Given the description of an element on the screen output the (x, y) to click on. 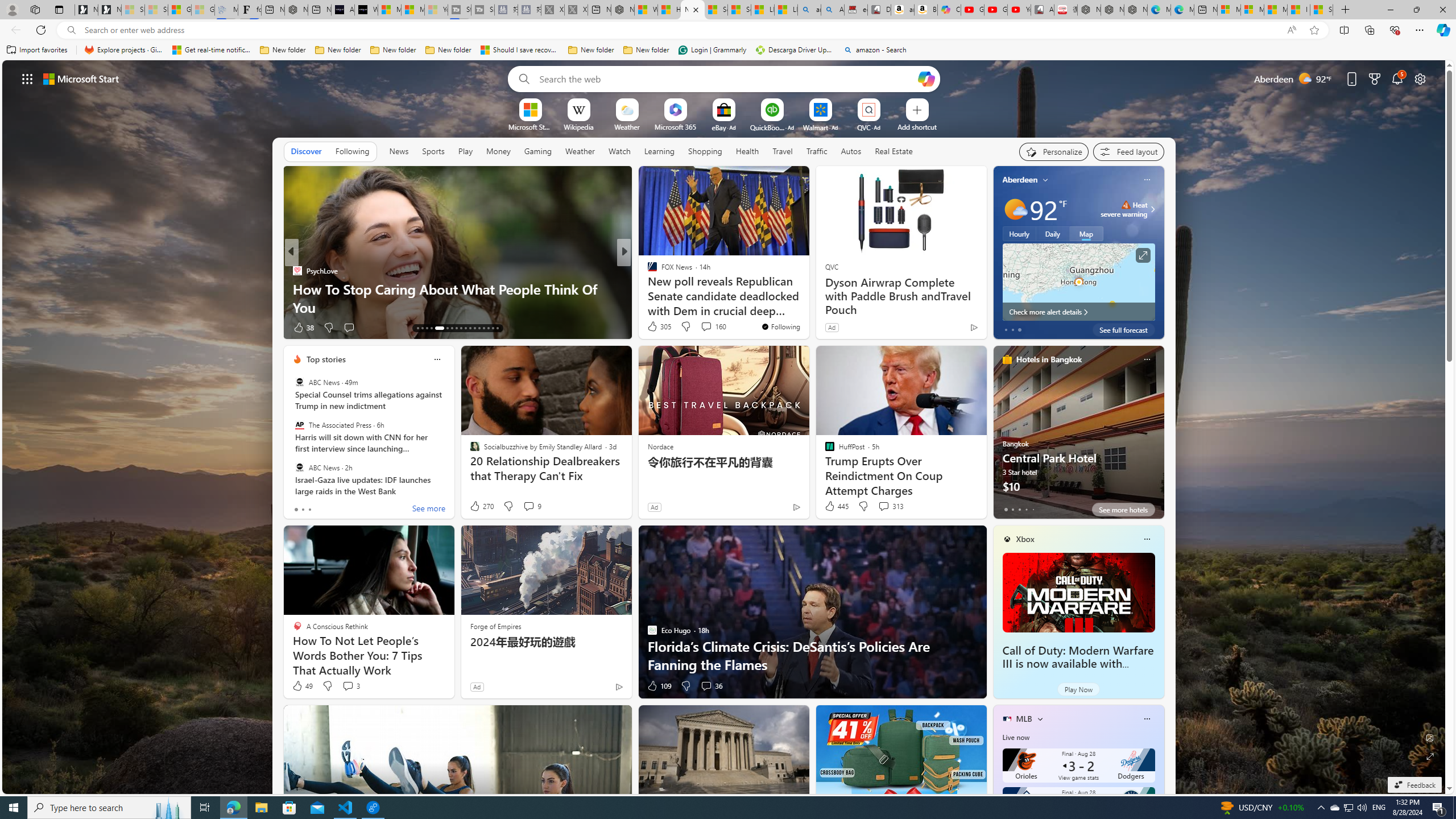
View comments 107 Comment (709, 327)
View comments 3 Comment (347, 685)
AutomationID: tab-17 (436, 328)
157 Like (654, 327)
5 tips for using a TV as a PC monitor (807, 307)
View comments 61 Comment (6, 327)
Enter your search term (726, 78)
AutomationID: tab-13 (417, 328)
Check more alert details (1077, 311)
